Given the description of an element on the screen output the (x, y) to click on. 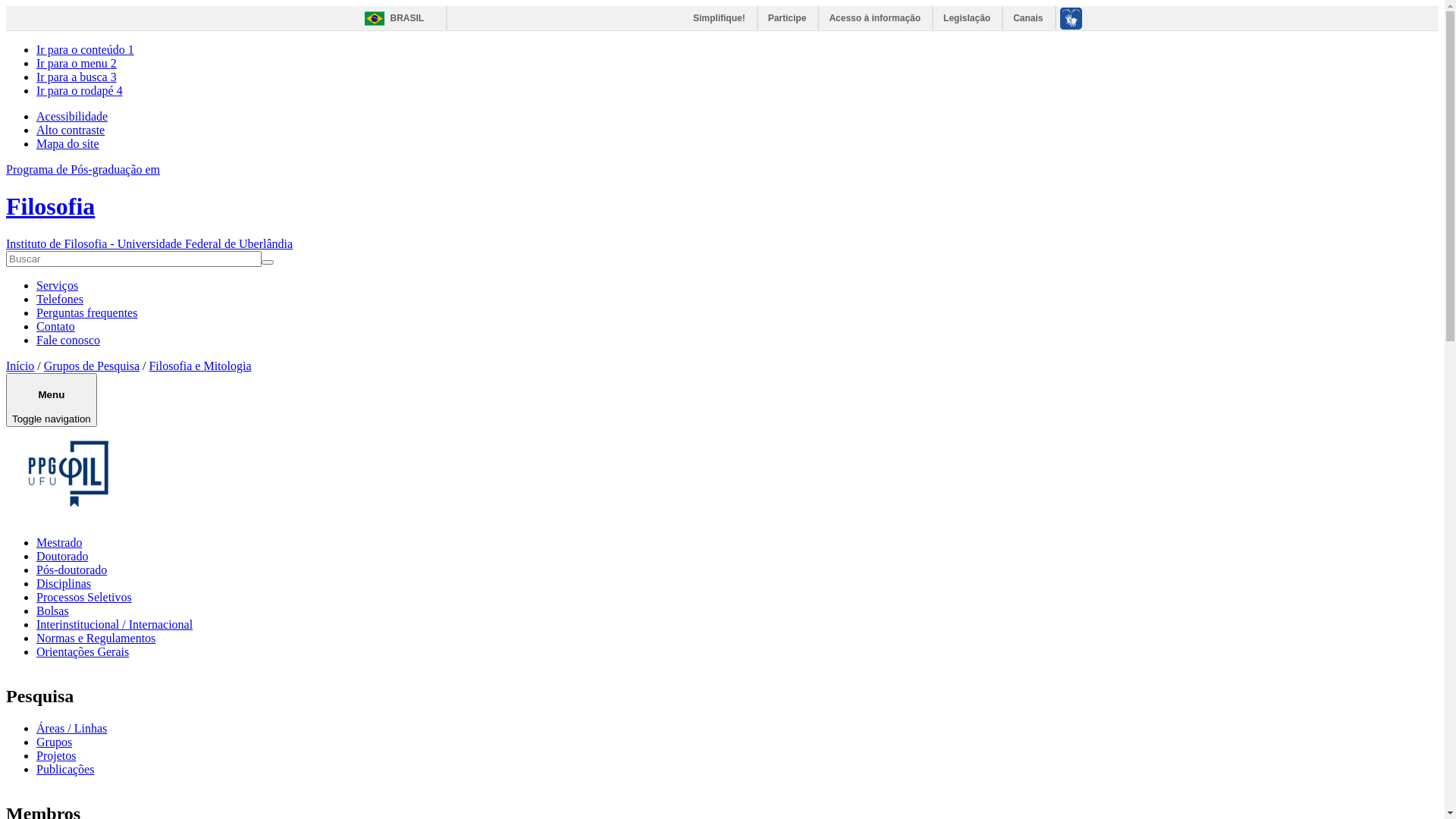
Perguntas frequentes Element type: text (86, 312)
Normas e Regulamentos Element type: text (95, 637)
Canais Element type: text (1028, 17)
Interinstitucional / Internacional Element type: text (114, 624)
POSFIL Element type: hover (68, 473)
Ir para a busca 3 Element type: text (76, 76)
Contato Element type: text (55, 326)
BRASIL Element type: text (389, 18)
Processos Seletivos Element type: text (83, 596)
Disciplinas Element type: text (63, 583)
Ir para o menu 2 Element type: text (76, 62)
Alto contraste Element type: text (70, 129)
Telefones Element type: text (59, 298)
Mapa do site Element type: text (67, 143)
Projetos Element type: text (55, 755)
Grupos Element type: text (54, 741)
Fale conosco Element type: text (68, 339)
Mestrado Element type: text (58, 542)
Doutorado Element type: text (61, 555)
Bolsas Element type: text (52, 610)
Simplifique! Element type: text (719, 17)
Menu
Toggle navigation Element type: text (51, 399)
Grupos de Pesquisa Element type: text (91, 365)
Acessibilidade Element type: text (71, 115)
Buscar Element type: text (27, 268)
Participe Element type: text (788, 17)
Filosofia e Mitologia Element type: text (199, 365)
